Given the description of an element on the screen output the (x, y) to click on. 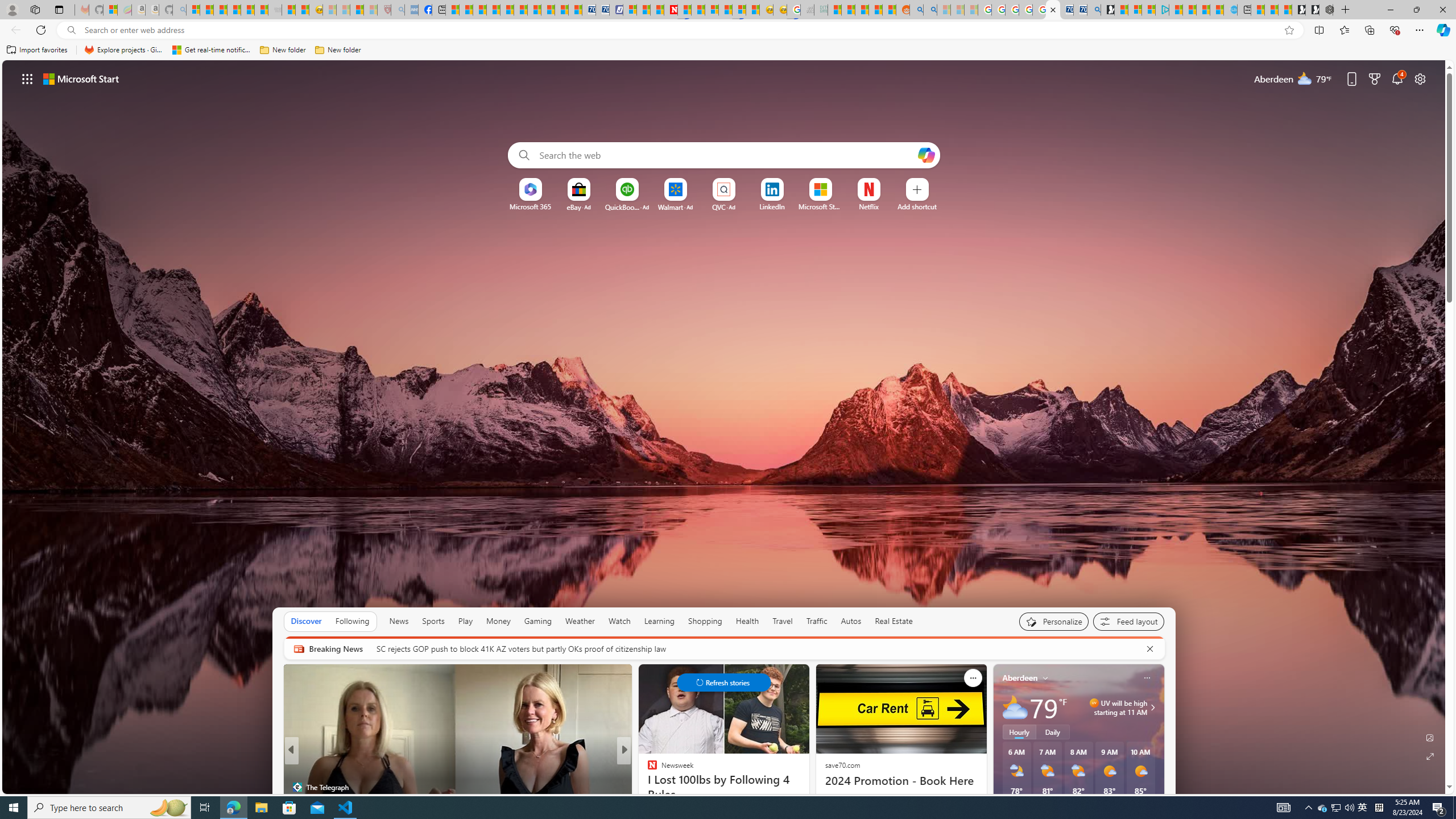
save70.com (842, 764)
Netflix (869, 206)
Sports (432, 621)
Money (497, 621)
LinkedIn (771, 206)
To get missing image descriptions, open the context menu. (529, 189)
Weather (579, 621)
Microsoft start (81, 78)
Edit Background (1430, 737)
Trusted Community Engagement and Contributions | Guidelines (683, 9)
The Weather Channel - MSN (219, 9)
Class: control (723, 682)
